Given the description of an element on the screen output the (x, y) to click on. 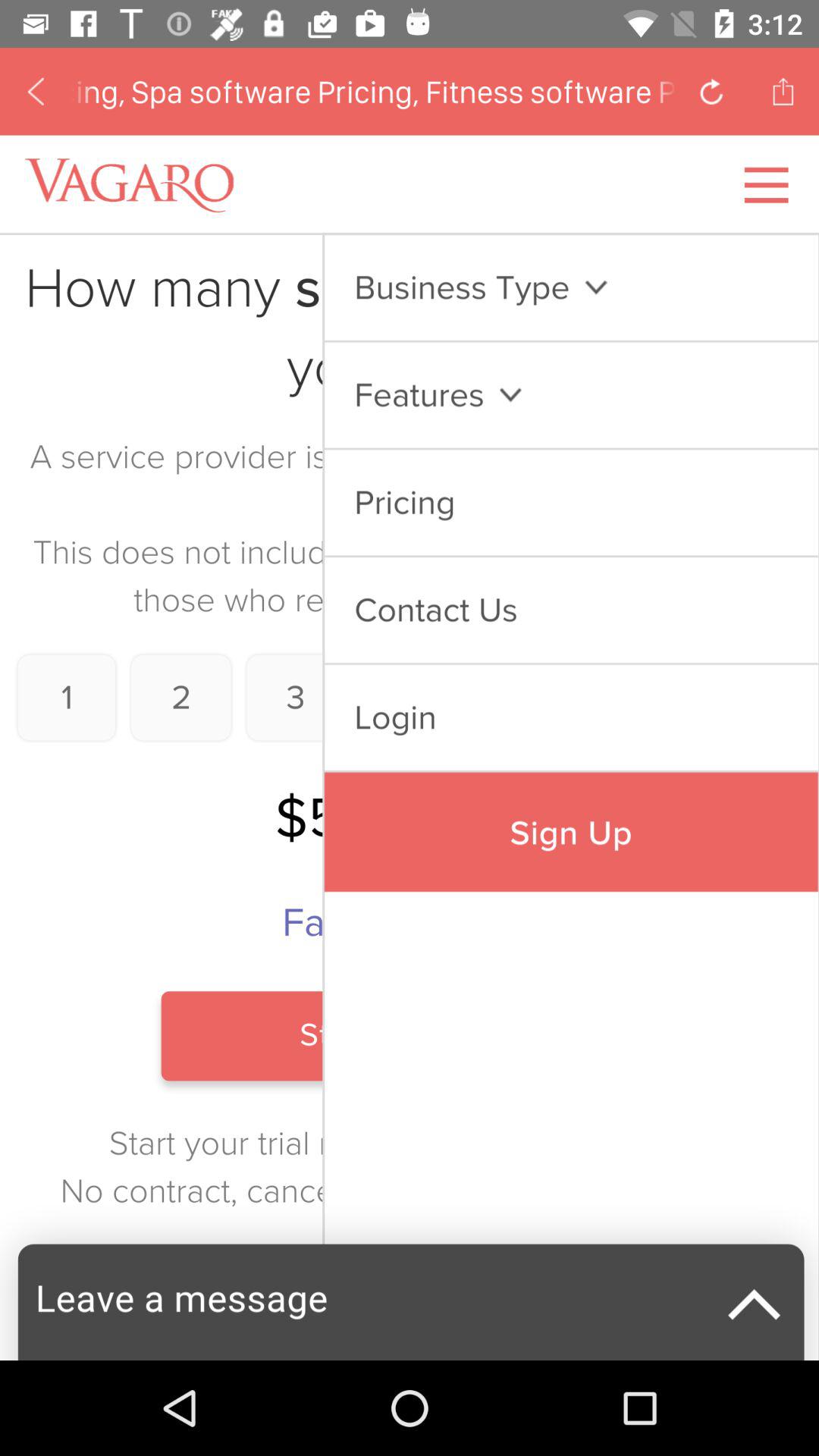
go to previous (35, 91)
